Given the description of an element on the screen output the (x, y) to click on. 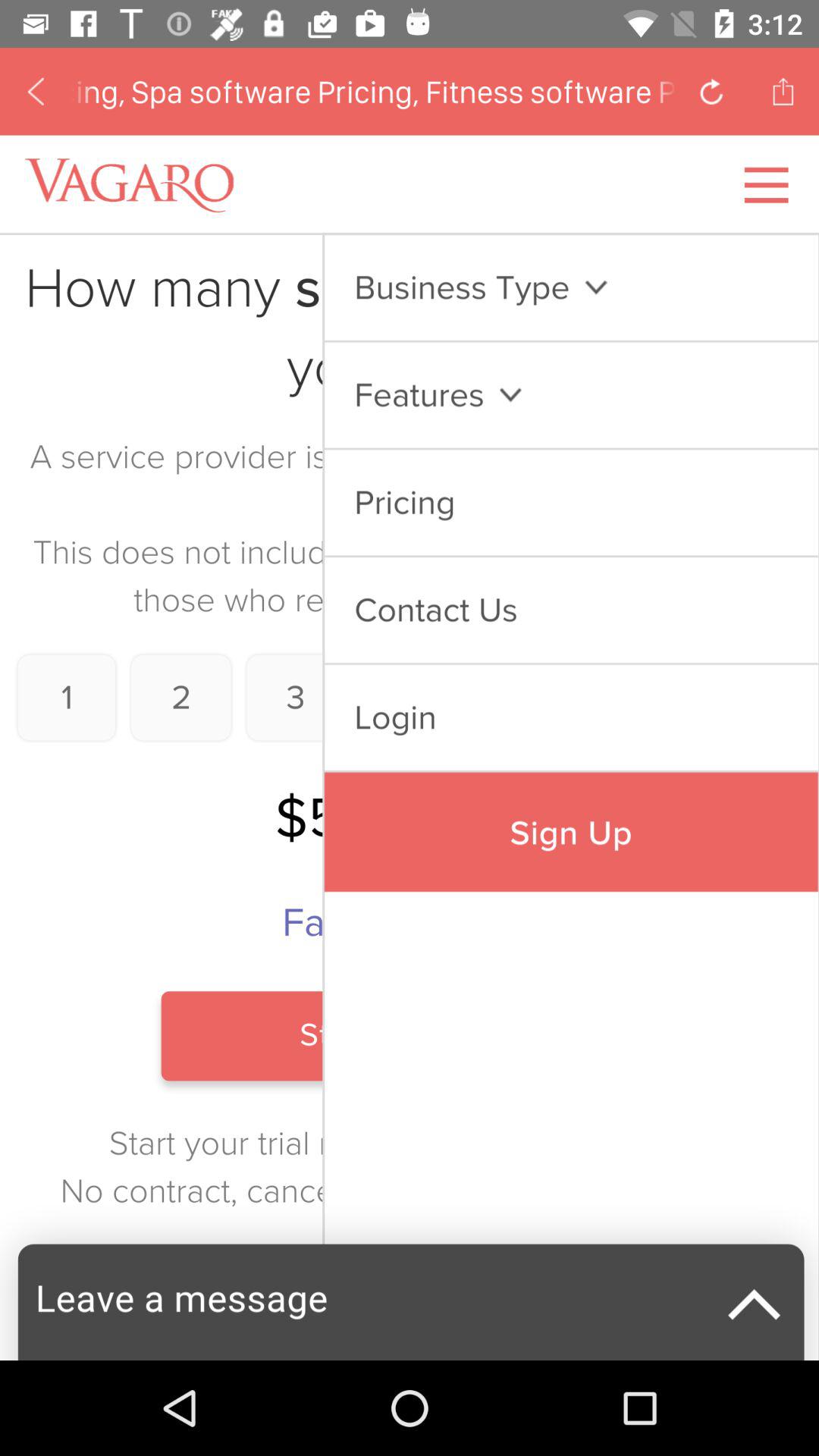
go to previous (35, 91)
